Given the description of an element on the screen output the (x, y) to click on. 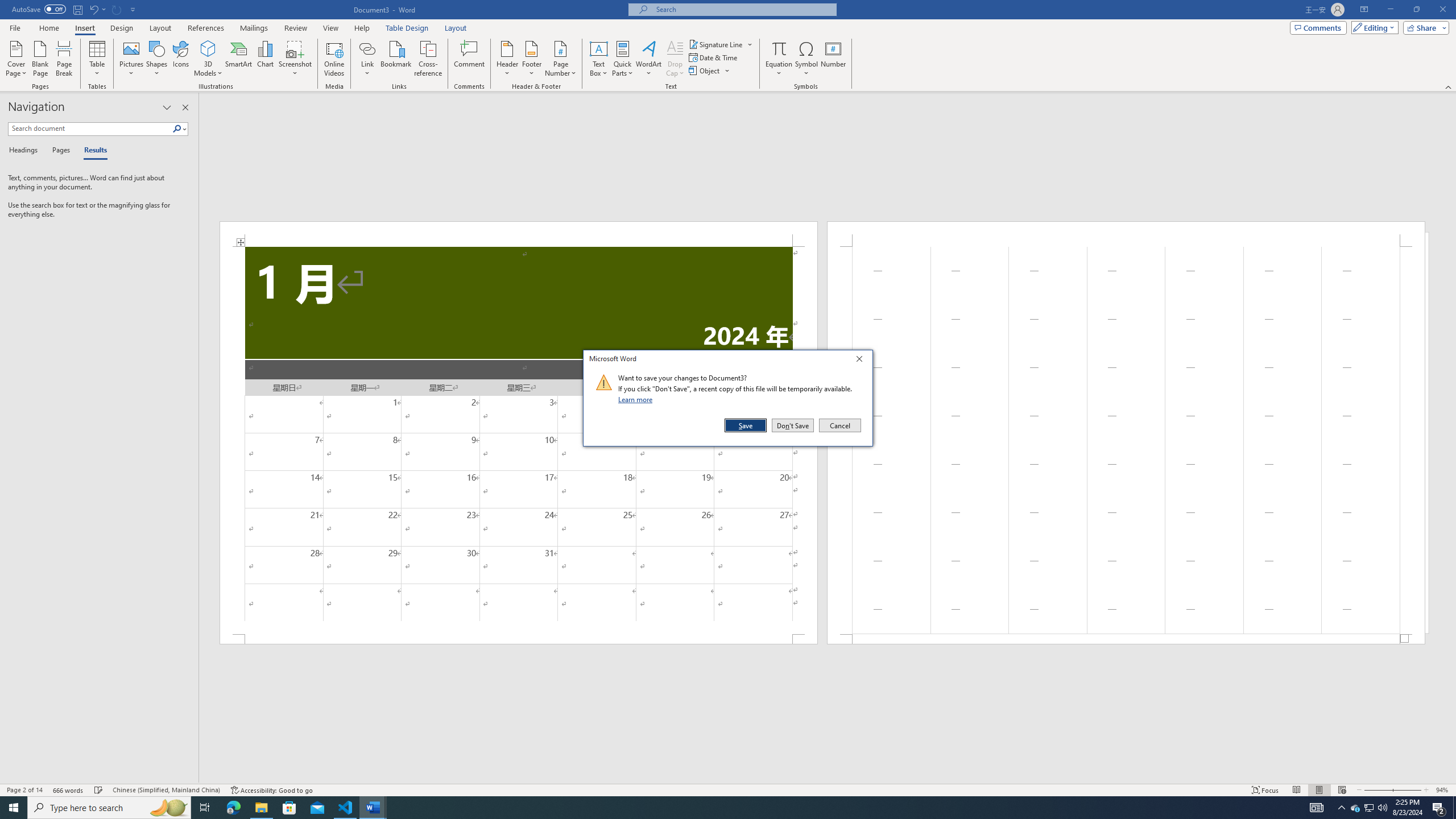
Footer -Section 1- (1126, 638)
Action Center, 2 new notifications (1439, 807)
SmartArt... (238, 58)
Pictures (131, 58)
Signature Line (721, 44)
Page Number (560, 58)
3D Models (208, 58)
Word - 2 running windows (373, 807)
Running applications (717, 807)
